Given the description of an element on the screen output the (x, y) to click on. 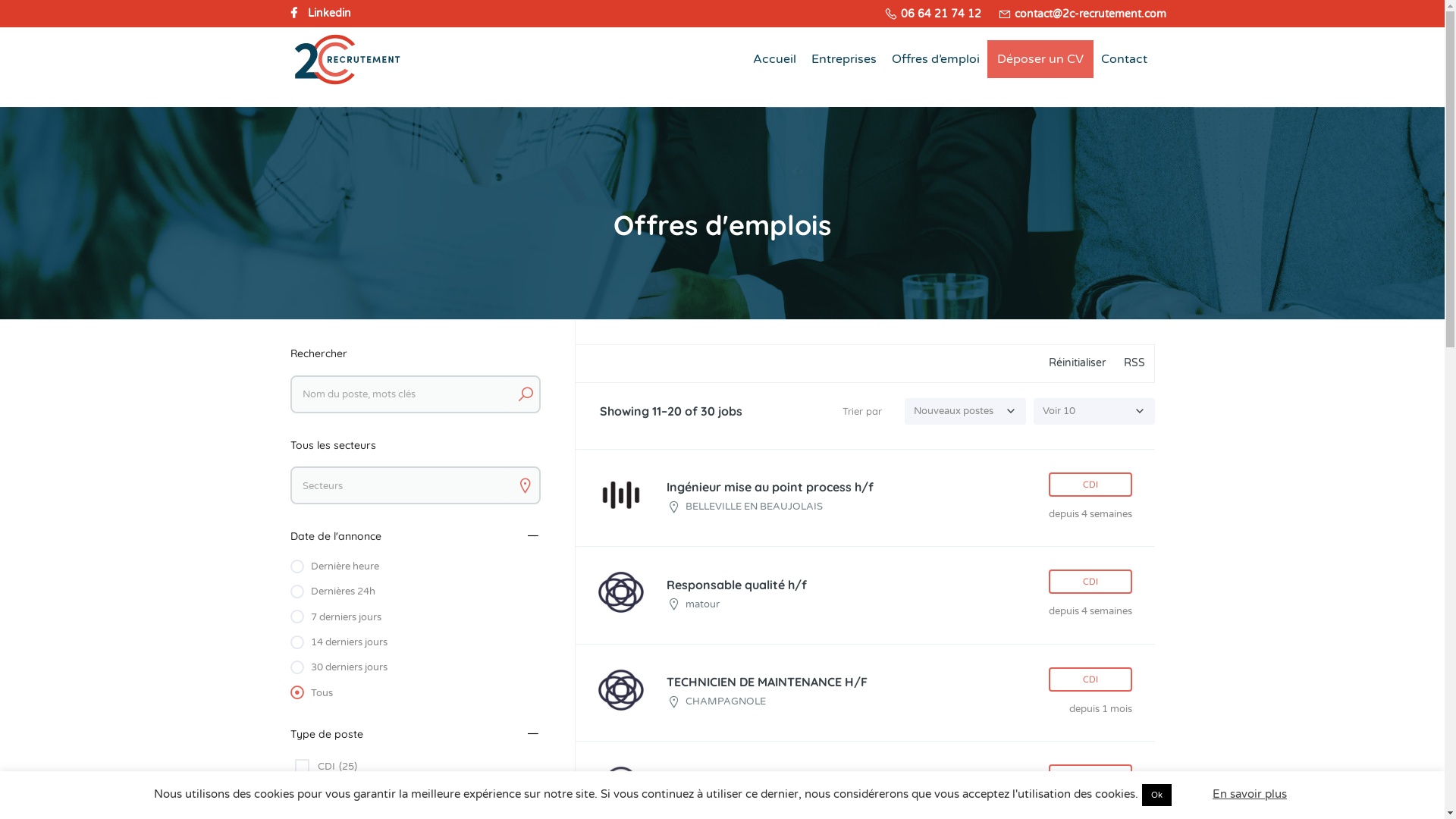
Accueil Element type: text (773, 58)
14 derniers jours Element type: text (414, 642)
contact@2c-recrutement.com Element type: text (1081, 13)
Ok Element type: text (1156, 795)
TECHNICIEN DE MAINTENANCE H/F
CHAMPAGNOLE
CDI
depuis 1 mois Element type: text (864, 693)
Entreprises Element type: text (843, 58)
En savoir plus Element type: text (1249, 793)
Linkedin Element type: text (329, 12)
Search Element type: text (524, 393)
Non Element type: text (1190, 793)
CDI
(25) Element type: text (322, 766)
06 64 21 74 12 Element type: text (932, 13)
Contact Element type: text (1123, 58)
Tous Element type: text (414, 692)
Search Element type: text (524, 484)
30 derniers jours Element type: text (414, 667)
7 derniers jours Element type: text (414, 616)
RSS Element type: text (1134, 363)
